Given the description of an element on the screen output the (x, y) to click on. 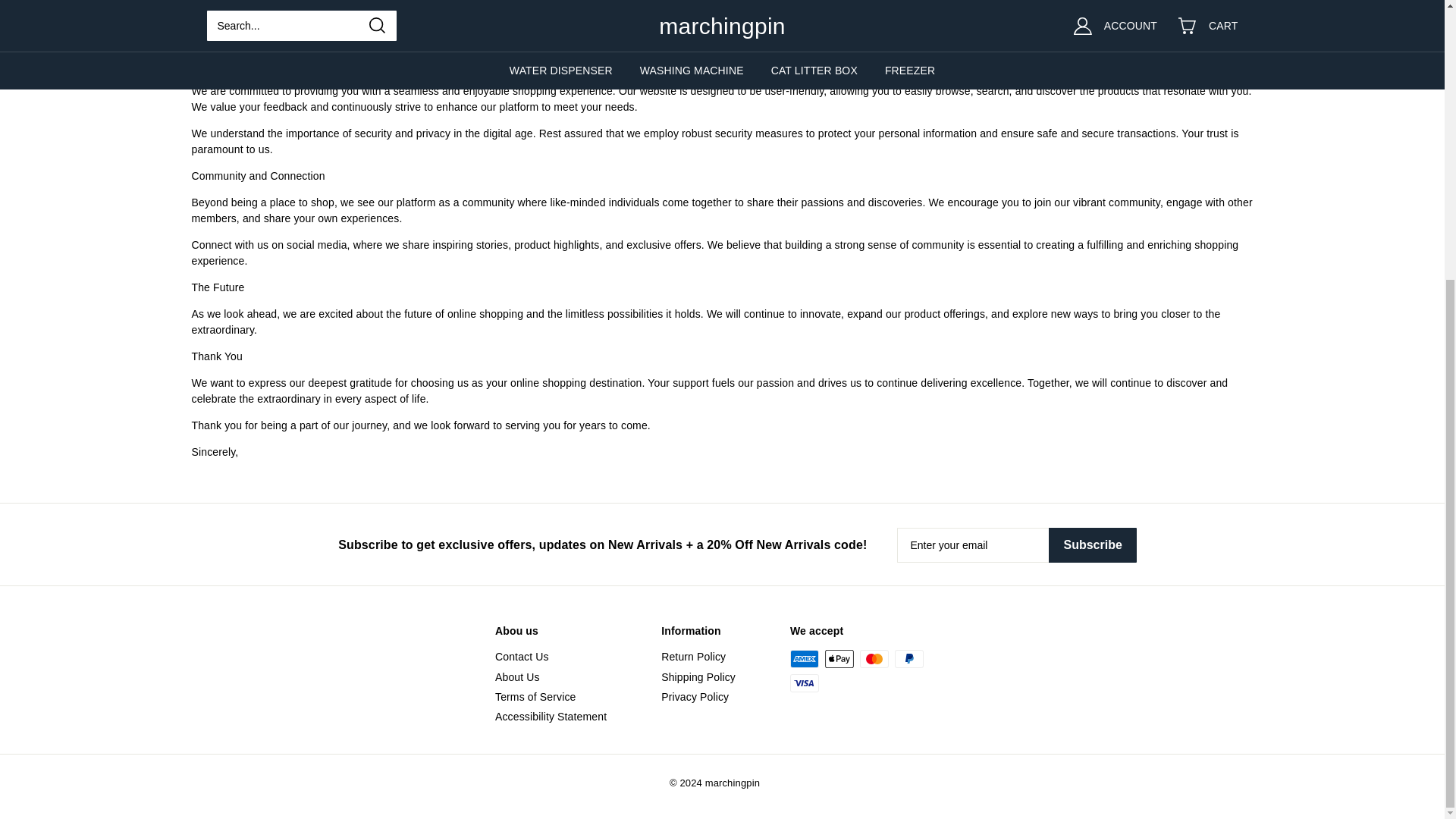
About Us (517, 676)
Privacy Policy (695, 696)
Contact Us (521, 656)
Shipping Policy (698, 676)
Return Policy (693, 656)
Subscribe (1091, 544)
Accessibility Statement (551, 716)
Terms of Service (535, 696)
